Given the description of an element on the screen output the (x, y) to click on. 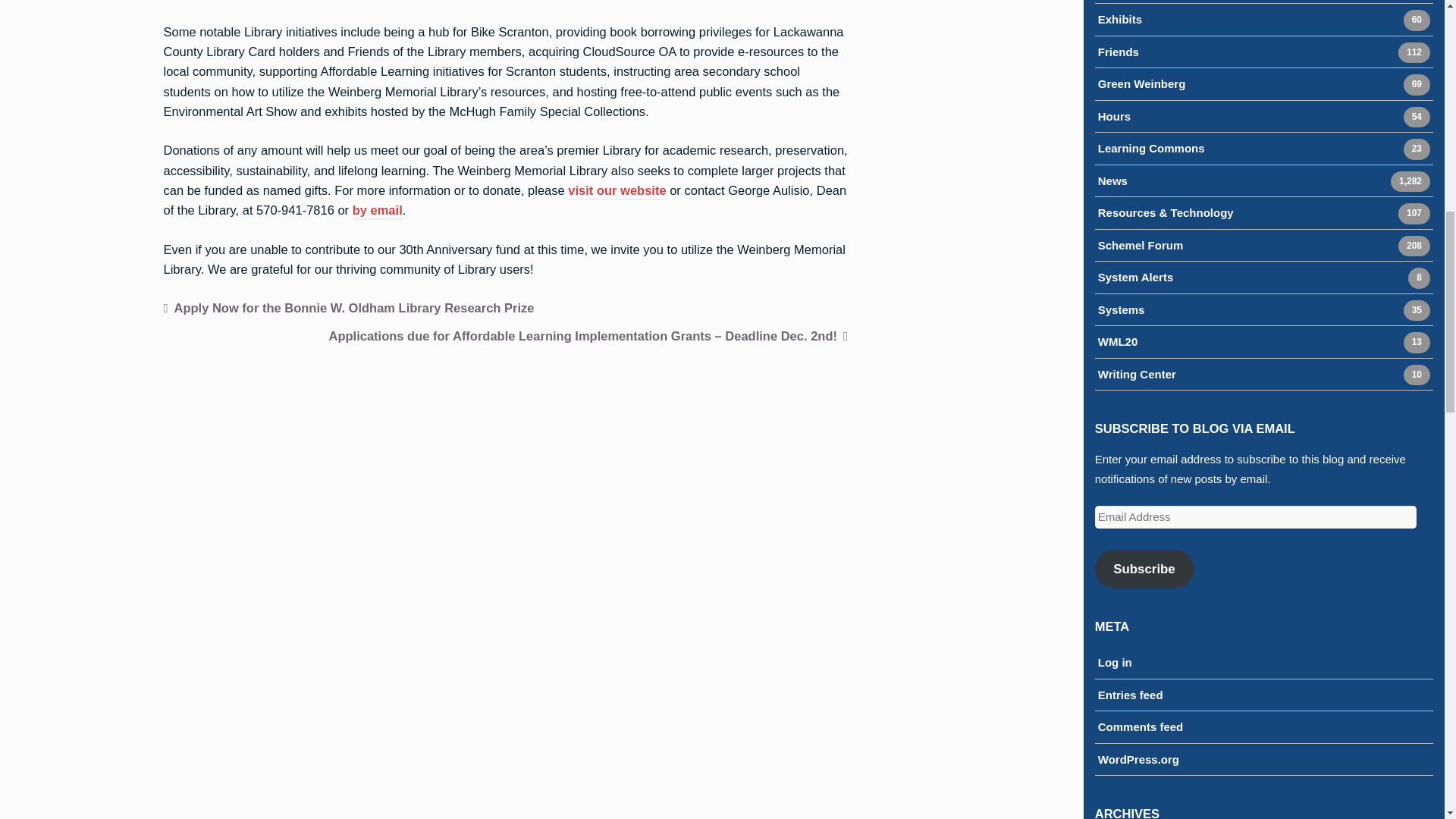
visit our website (1141, 84)
Comments feed (1136, 375)
Entries feed (616, 191)
by email (1140, 728)
Log in (1130, 696)
Apply Now for the Bonnie W. Oldham Library Research Prize (1135, 278)
Subscribe (1111, 182)
